Given the description of an element on the screen output the (x, y) to click on. 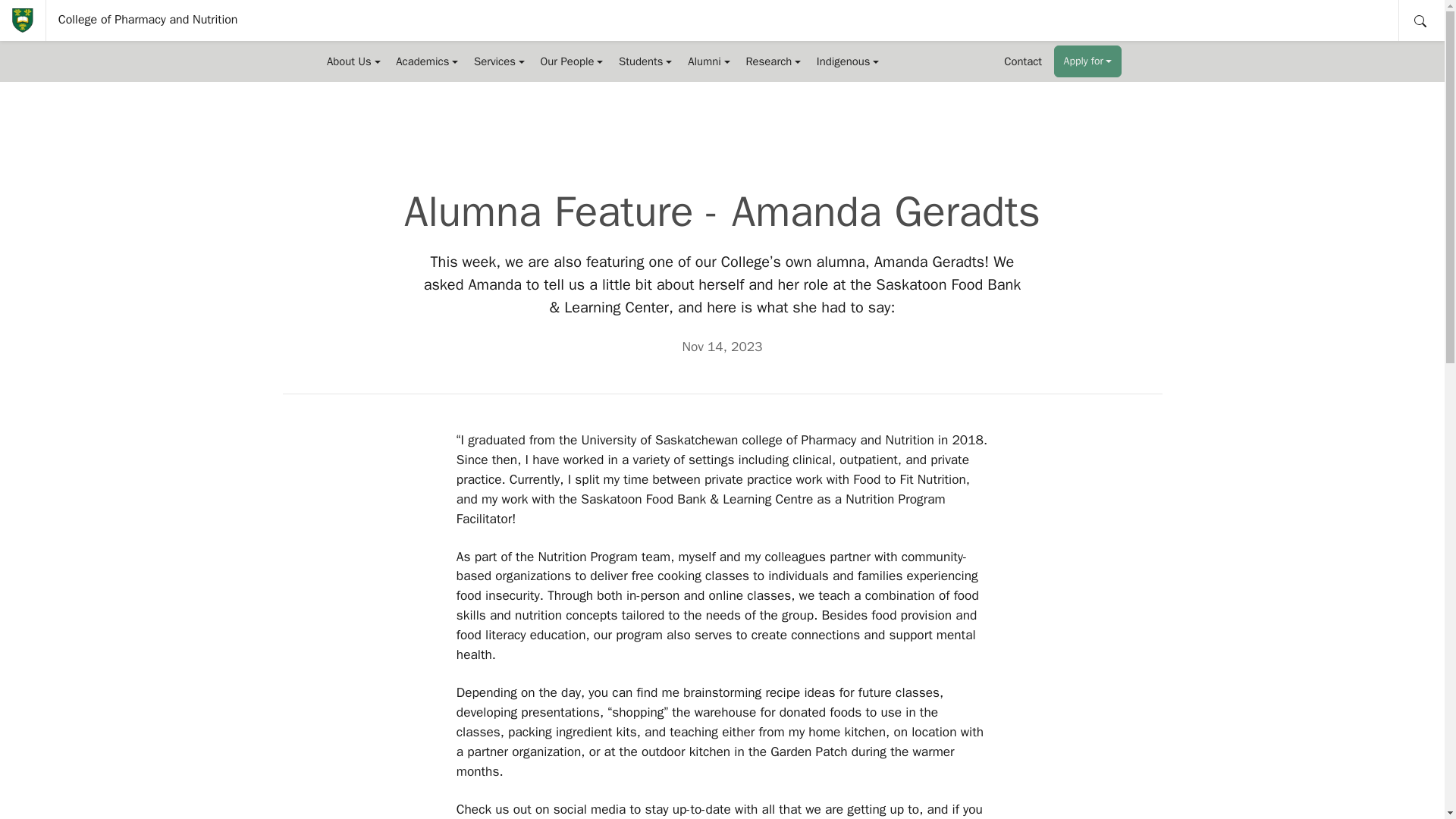
Academics (426, 60)
Services (498, 60)
Our People (571, 60)
College of Pharmacy and Nutrition (148, 20)
About Us (352, 60)
